Given the description of an element on the screen output the (x, y) to click on. 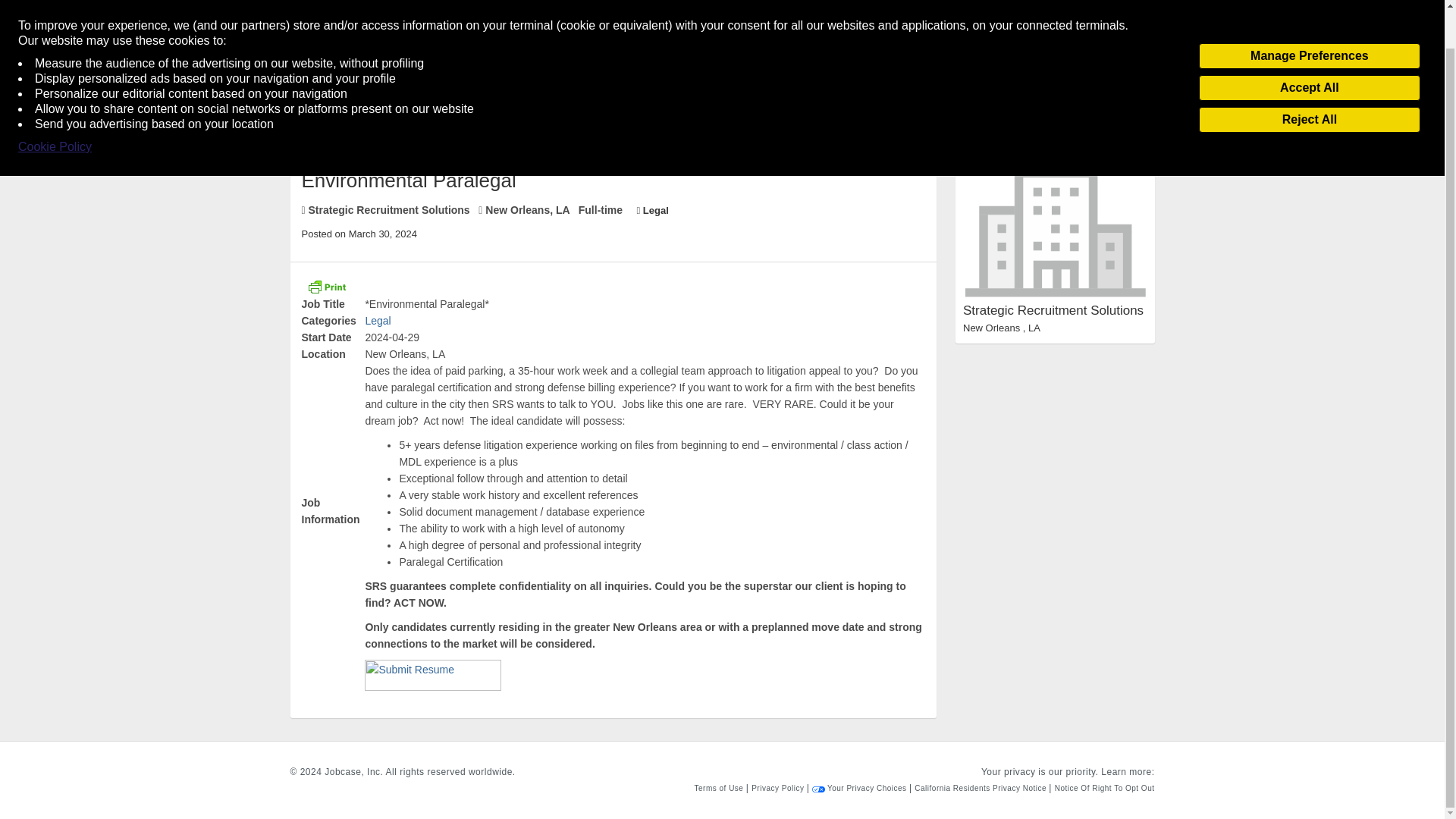
Want to post a job around Louisiana? (566, 56)
Submit Resume (432, 675)
Post a Job (1104, 2)
Get Job Alerts (342, 56)
Legal (377, 320)
California Residents Privacy Notice (981, 787)
Notice Of Right To Opt Out (1104, 787)
Jobs for Legal (377, 320)
Employer Login (426, 56)
Terms of Use (719, 787)
